Given the description of an element on the screen output the (x, y) to click on. 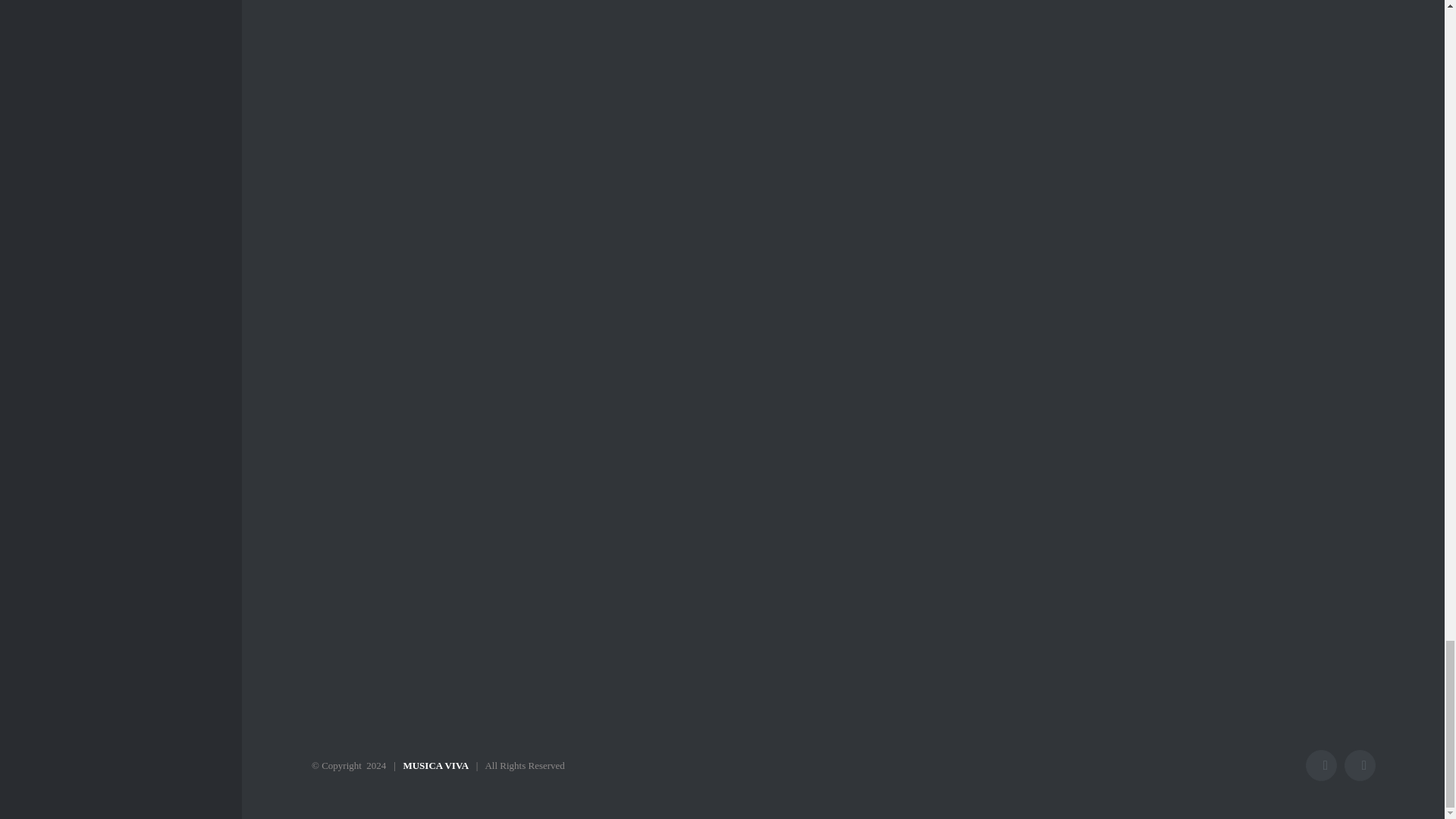
Facebook (1321, 765)
Vimeo (1359, 765)
Facebook (1321, 765)
Vimeo (1359, 765)
